Given the description of an element on the screen output the (x, y) to click on. 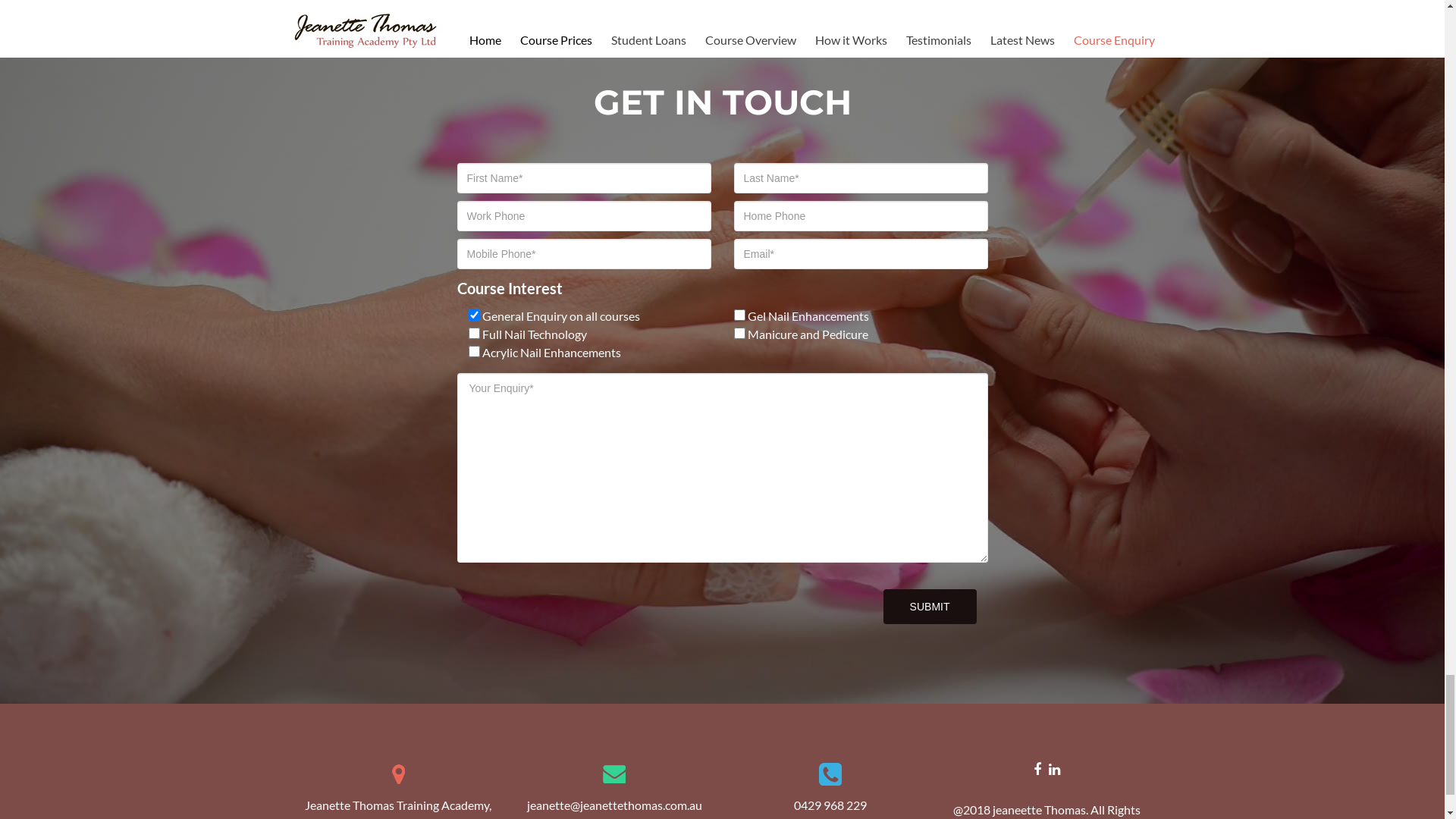
OUR COURSES Element type: text (577, 373)
ENQUIRIES Element type: text (717, 373)
STUDENT LOGIN Element type: text (861, 373)
